Given the description of an element on the screen output the (x, y) to click on. 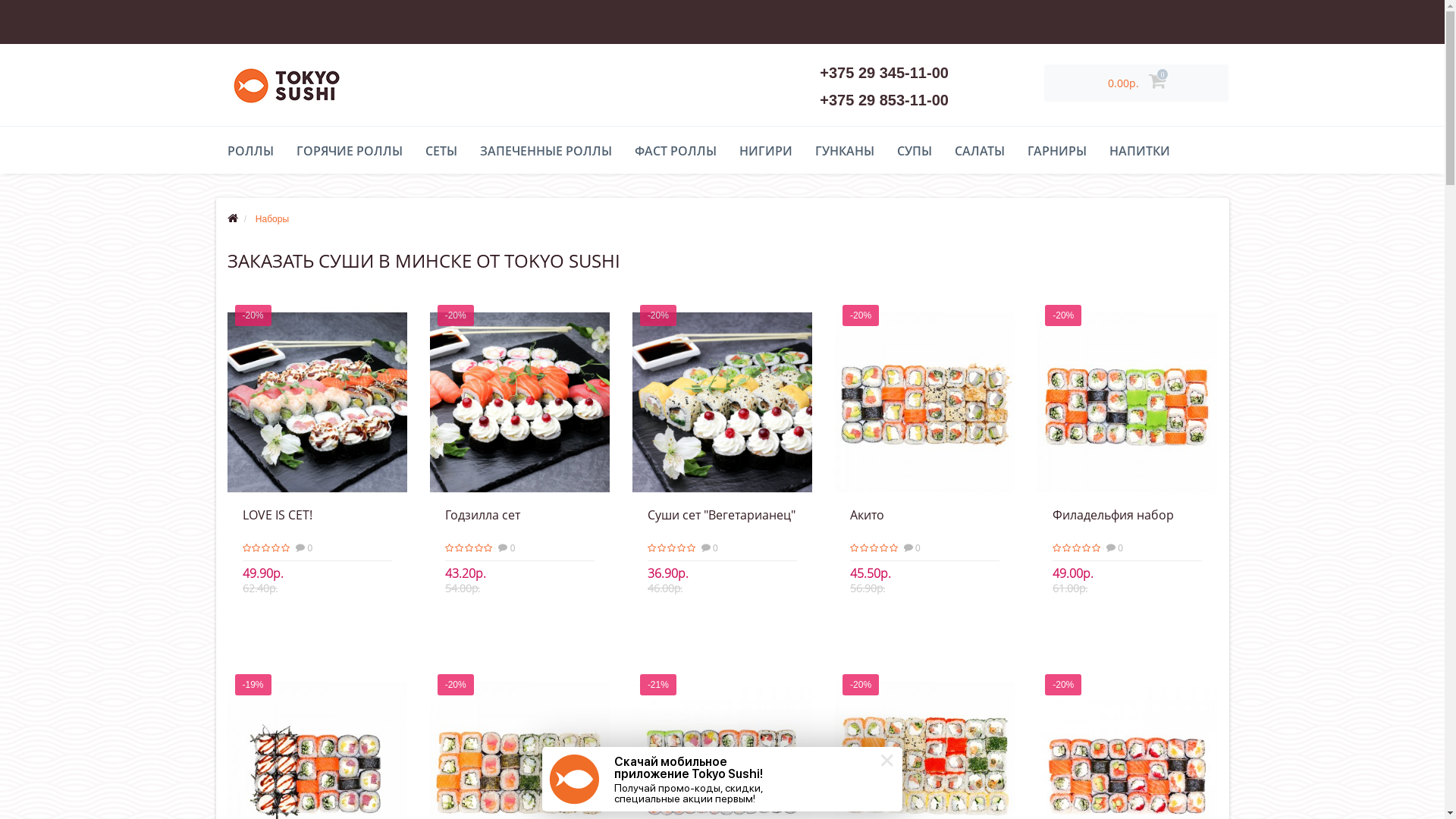
+375 29 345-11-00 Element type: text (883, 72)
+375 29 853-11-00 Element type: text (883, 99)
